Given the description of an element on the screen output the (x, y) to click on. 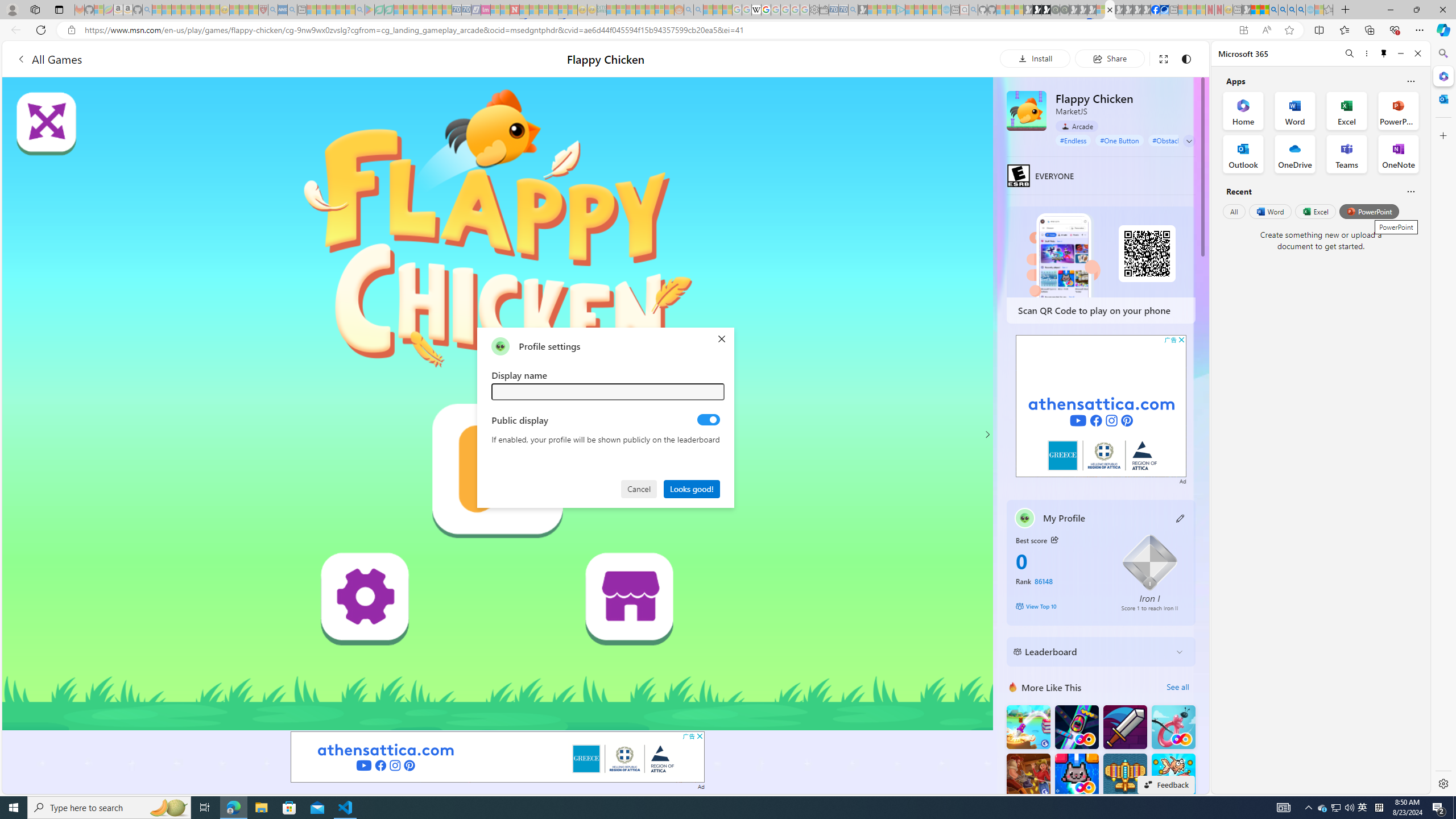
Future Focus Report 2024 - Sleeping (1064, 9)
utah sues federal government - Search - Sleeping (291, 9)
Sign in to your account - Sleeping (1100, 9)
Flappy Chicken (1026, 110)
Play Zoo Boom in your browser | Games from Microsoft Start (1036, 9)
14 Common Myths Debunked By Scientific Facts - Sleeping (533, 9)
Unpin side pane (1383, 53)
